Given the description of an element on the screen output the (x, y) to click on. 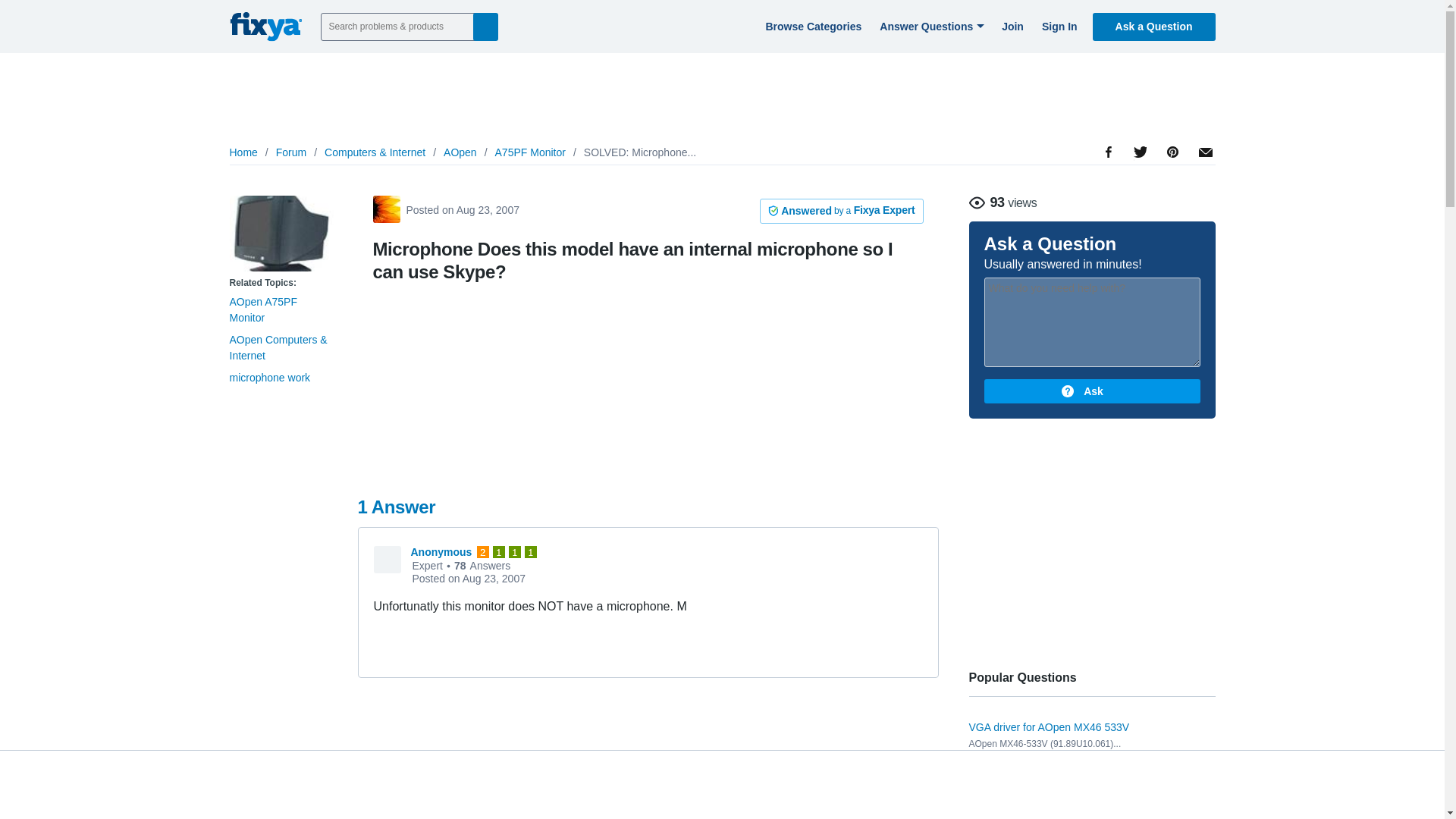
Share on Twitter (1139, 188)
Ask (1091, 391)
Share on Pinterest (1170, 194)
Forum (290, 152)
Browse Categories (810, 26)
Search Fixya (485, 26)
AOpen A75PF Monitor (280, 233)
Share on Facebook (1108, 194)
Search Fixya (485, 26)
Share on Pinterest (1170, 194)
Share on Facebook (1108, 194)
Share on Twitter (1139, 188)
Sign In (1056, 26)
Search Fixya (485, 26)
